Given the description of an element on the screen output the (x, y) to click on. 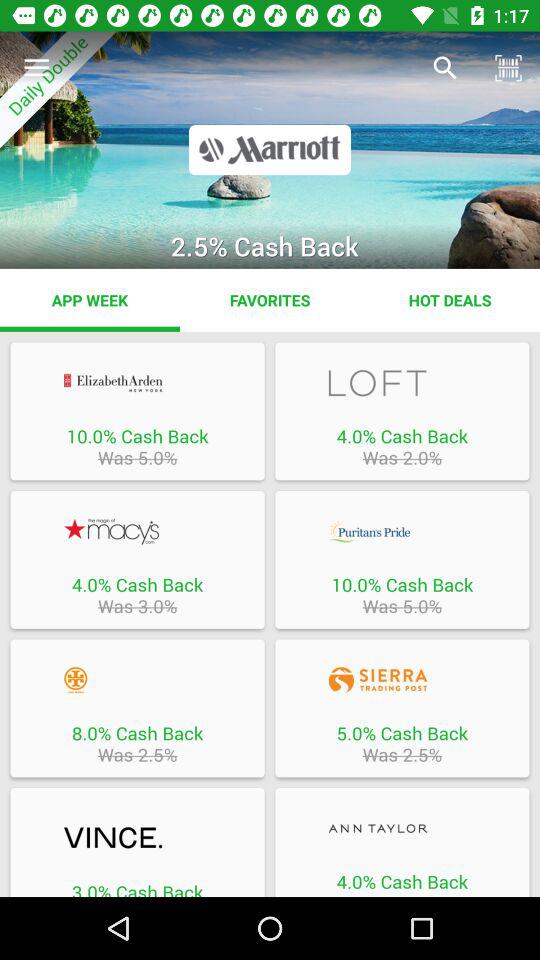
go to the website vince (137, 838)
